Given the description of an element on the screen output the (x, y) to click on. 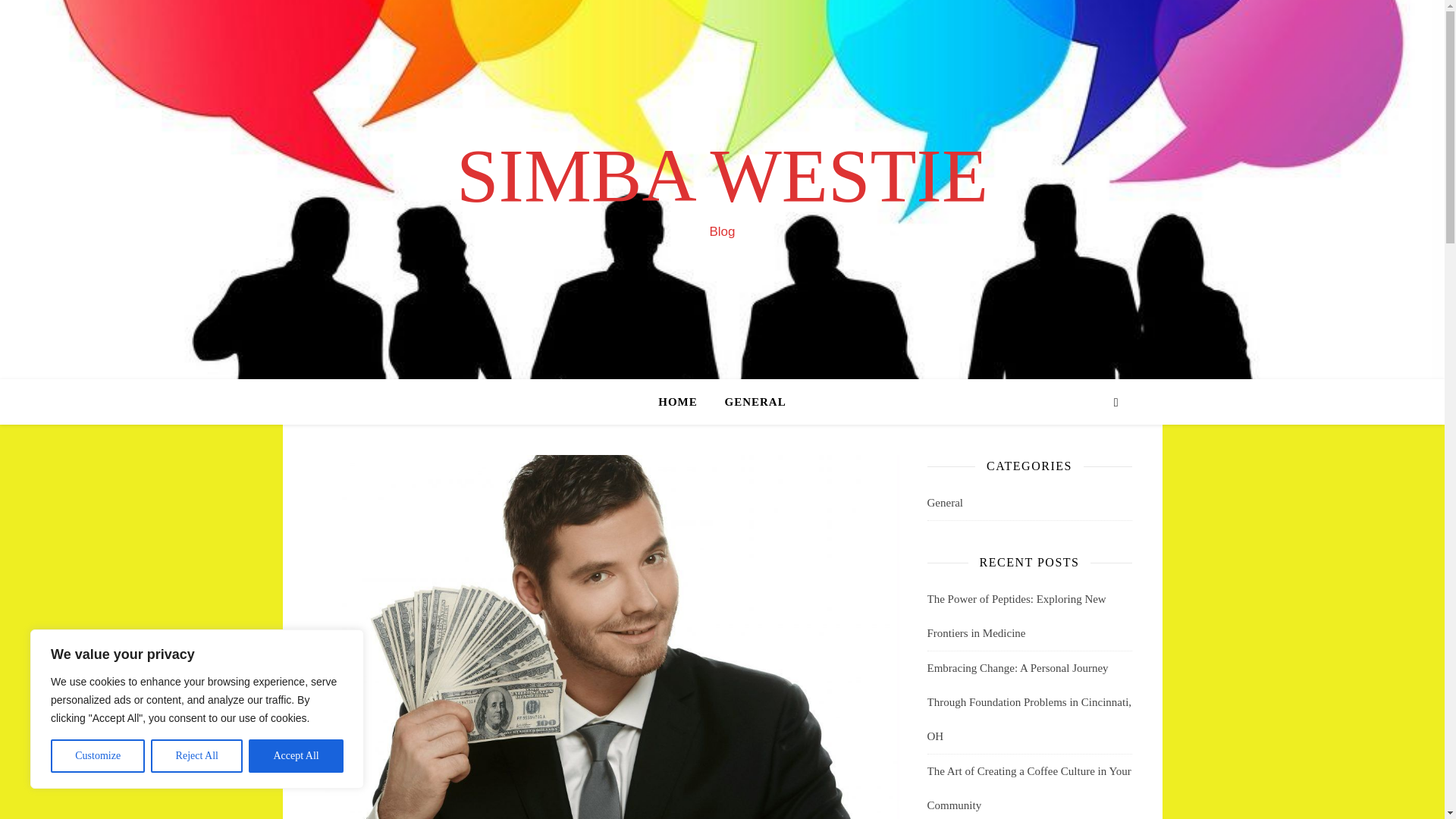
GENERAL (749, 402)
The Power of Peptides: Exploring New Frontiers in Medicine (1015, 615)
HOME (684, 402)
Reject All (197, 756)
Accept All (295, 756)
General (944, 503)
Customize (97, 756)
